Given the description of an element on the screen output the (x, y) to click on. 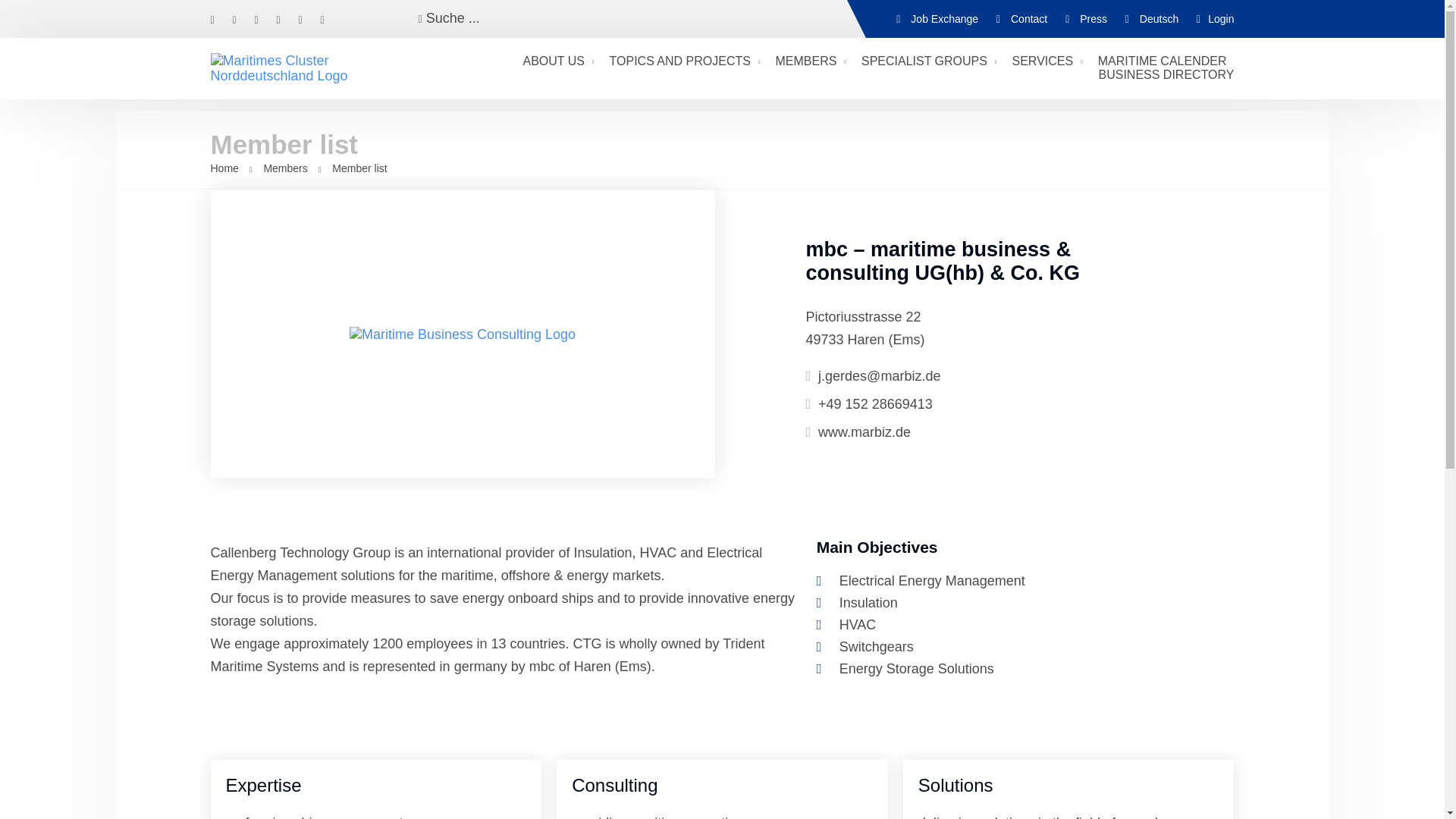
Members (810, 60)
Job Exchange (937, 19)
Login (1214, 19)
About us (558, 60)
ABOUT US (558, 60)
Specialist groups (928, 60)
Topics and Projects (685, 60)
TOPICS AND PROJECTS (685, 60)
Contact (1020, 19)
SPECIALIST GROUPS (928, 60)
Deutsch (1158, 19)
Press (1085, 19)
MEMBERS (810, 60)
